Given the description of an element on the screen output the (x, y) to click on. 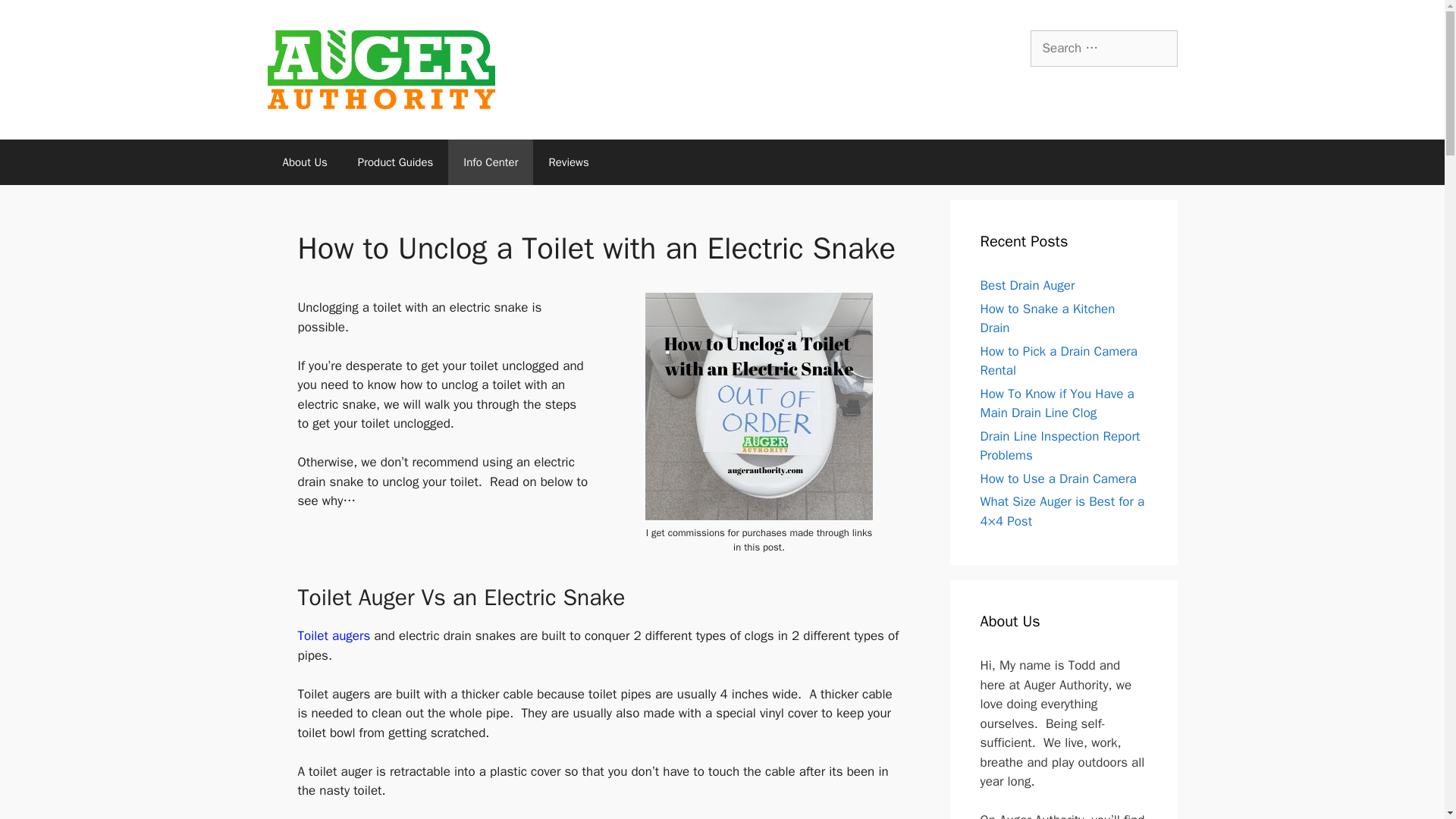
How to Pick a Drain Camera Rental (1058, 361)
Info Center (490, 162)
How To Know if You Have a Main Drain Line Clog (1056, 403)
Toilet augers (335, 635)
Best Drain Auger (1026, 285)
Search (35, 18)
how to unclog a toilet with an electric snake (758, 406)
How to Snake a Kitchen Drain (1047, 318)
About Us (304, 162)
How to Use a Drain Camera (1057, 478)
